Given the description of an element on the screen output the (x, y) to click on. 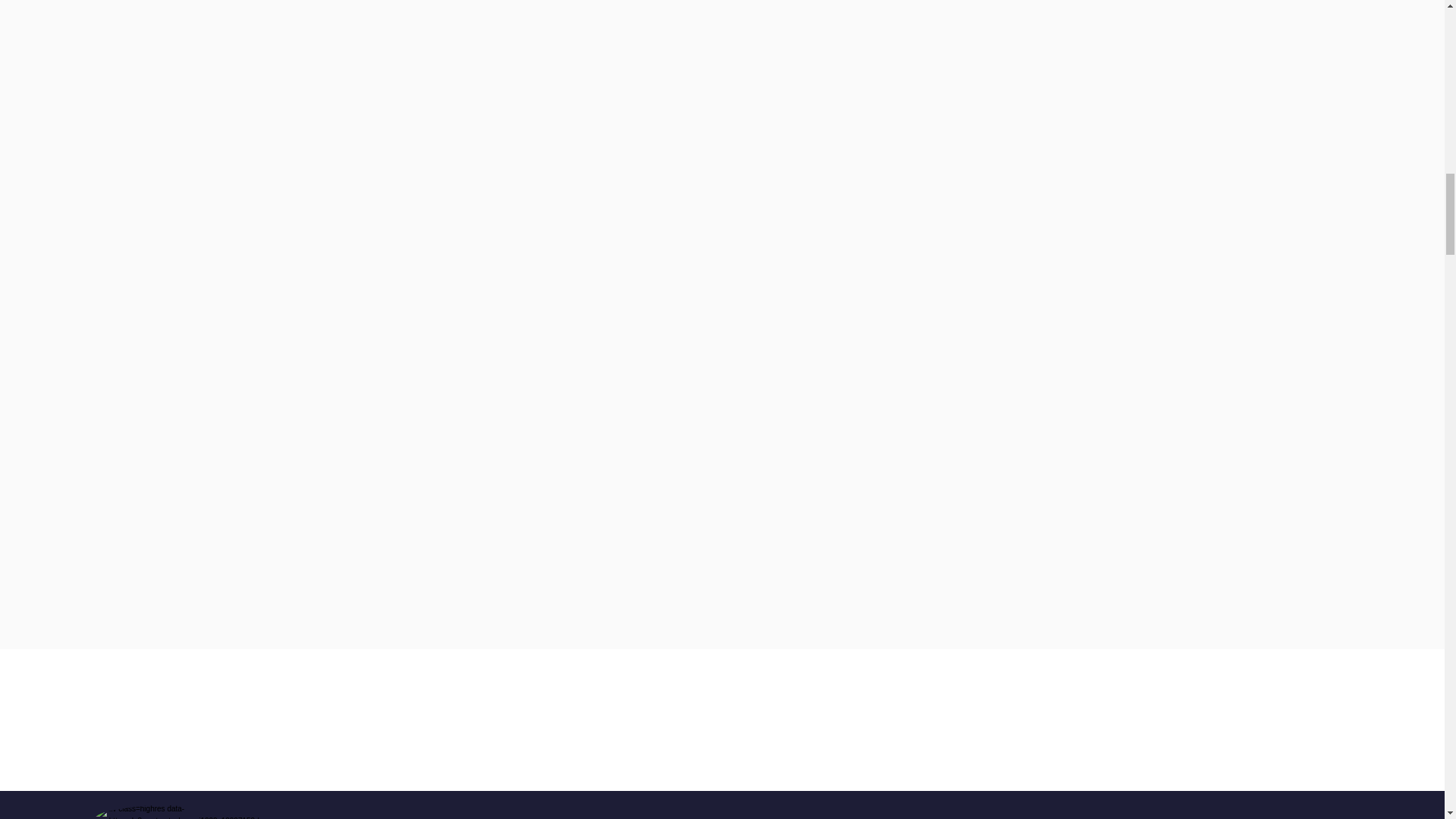
logo.PNG (183, 811)
